Given the description of an element on the screen output the (x, y) to click on. 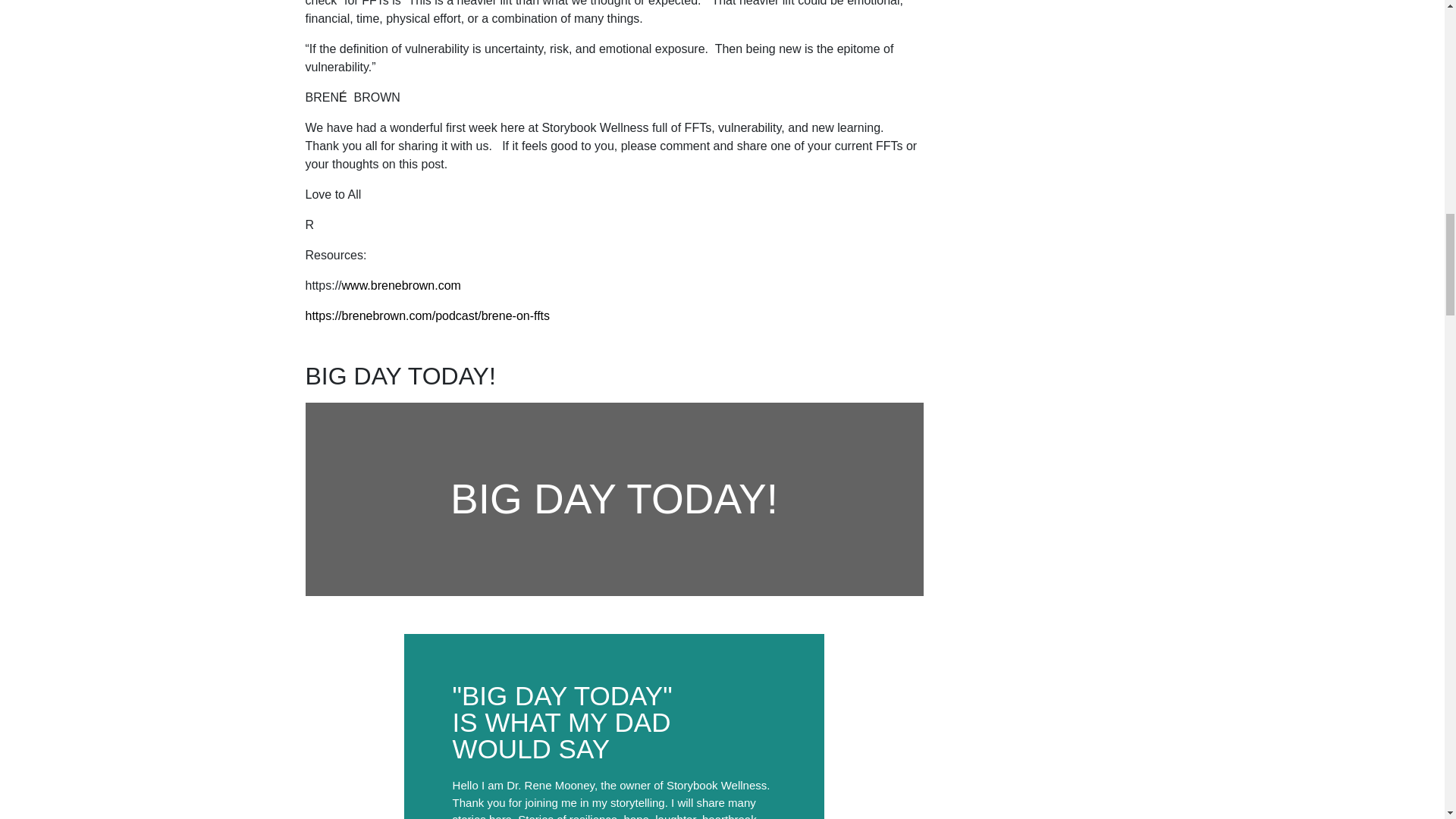
BIG DAY TODAY! (399, 375)
